Given the description of an element on the screen output the (x, y) to click on. 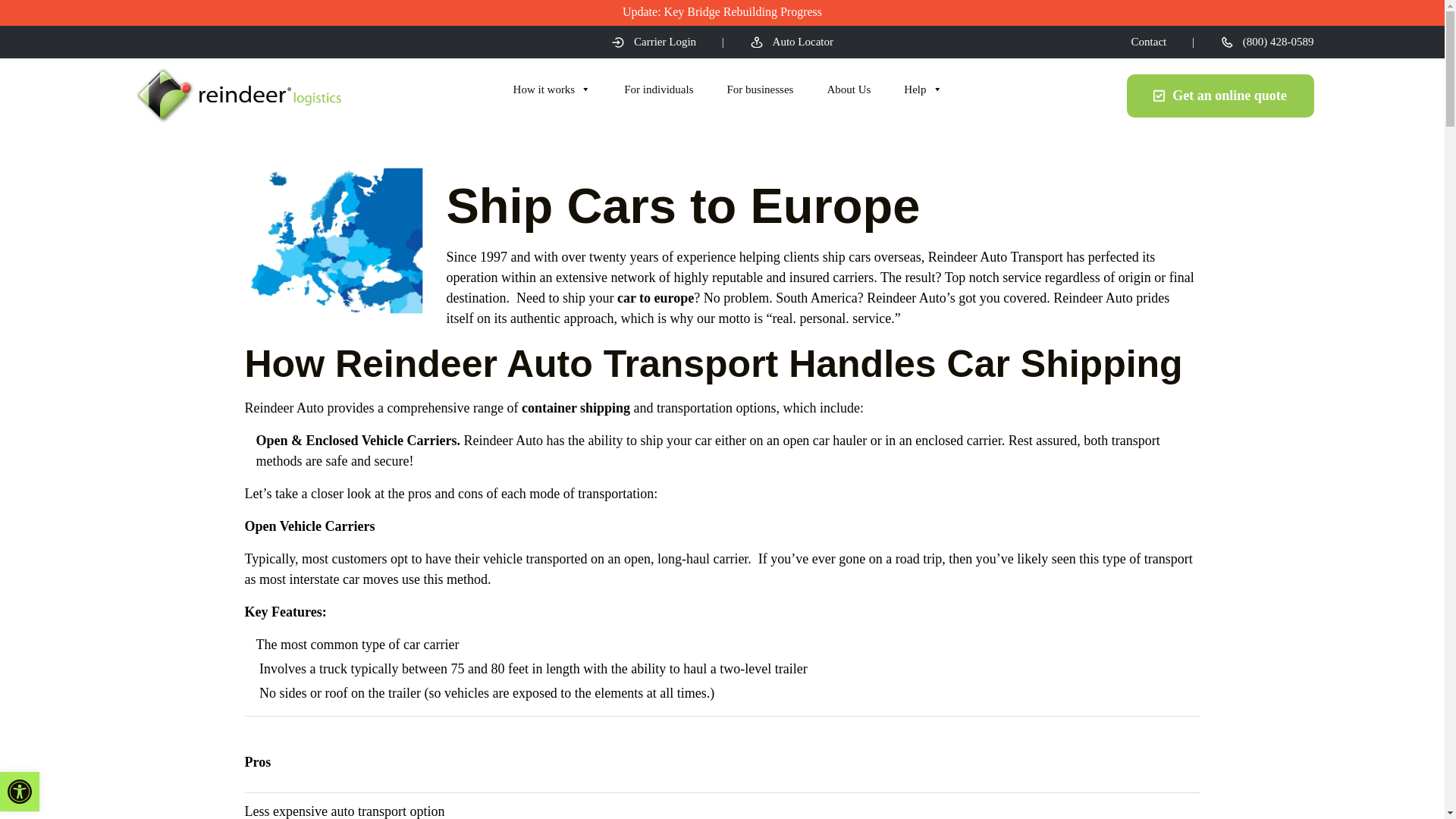
Contact (1149, 41)
Get an online quote (1220, 95)
Auto Locator (790, 41)
Update: Key Bridge Rebuilding Progress (721, 12)
How it works (552, 89)
Accessibility Tools (19, 791)
Help (923, 89)
For businesses (759, 89)
Reindeer Auto Relocation Services (236, 95)
Accessibility Tools (19, 791)
